Given the description of an element on the screen output the (x, y) to click on. 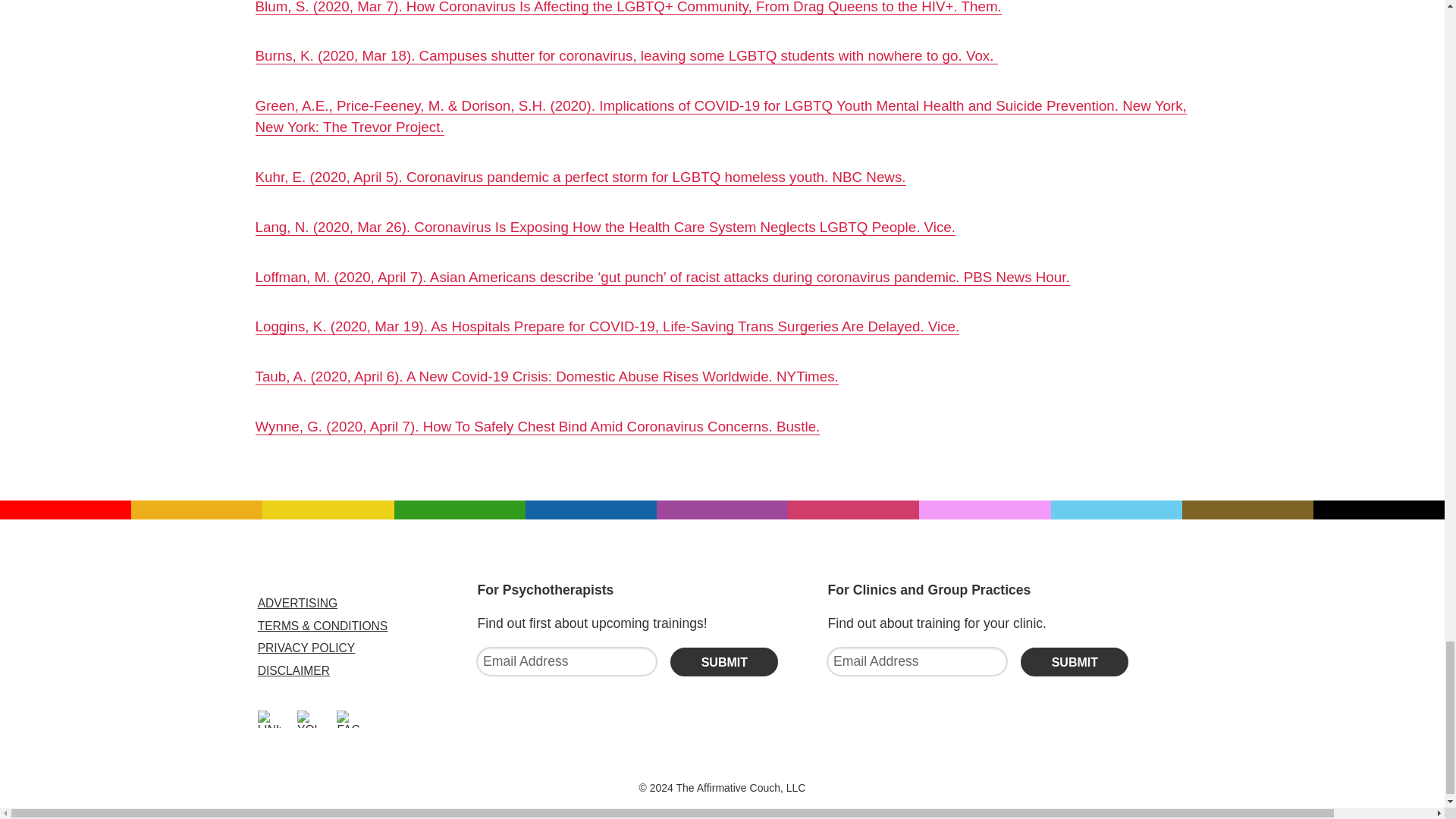
youtube (308, 719)
Submit (723, 661)
Submit (1074, 661)
facebook (347, 719)
